Given the description of an element on the screen output the (x, y) to click on. 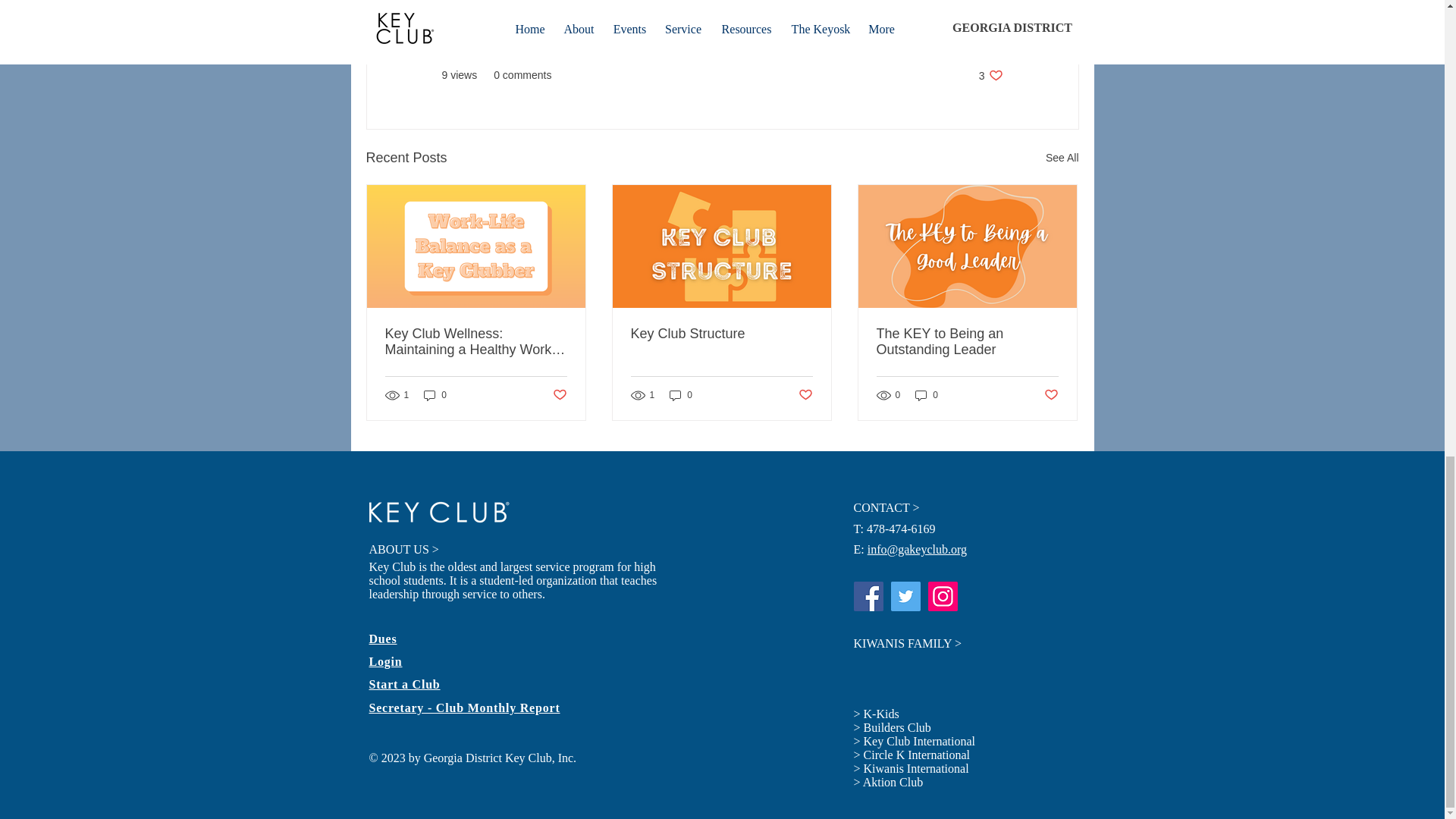
See All (990, 74)
Key Club Wellness: Maintaining a Healthy Work-Life Balance (1061, 157)
0 (476, 341)
